Given the description of an element on the screen output the (x, y) to click on. 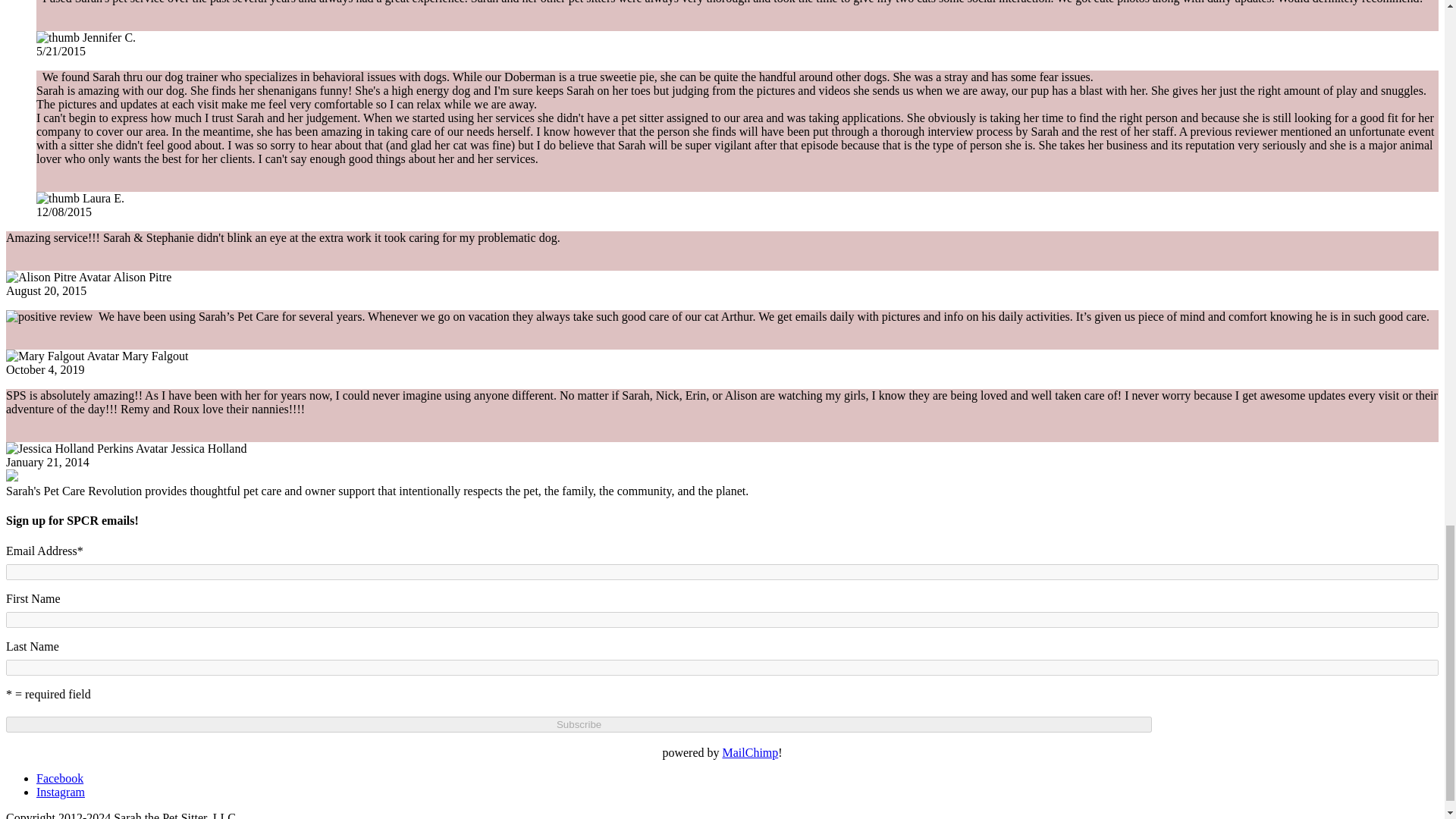
Subscribe (578, 724)
Subscribe (578, 724)
MailChimp (749, 752)
